Given the description of an element on the screen output the (x, y) to click on. 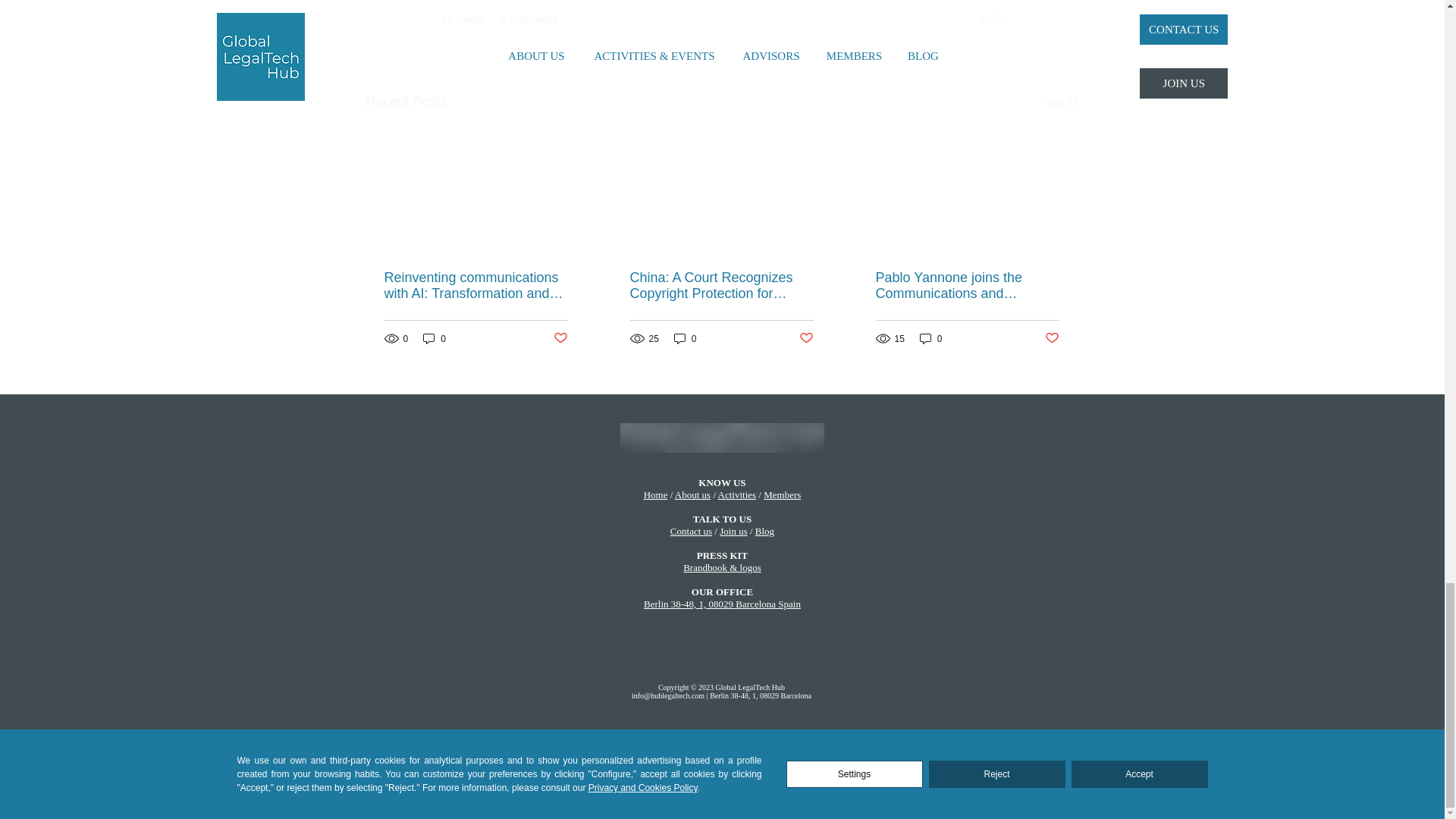
Home (655, 494)
0 (930, 338)
Members (781, 494)
About us (692, 494)
Post not marked as liked (1052, 338)
Contact us (690, 531)
Post not marked as liked (560, 338)
0 (990, 20)
